Given the description of an element on the screen output the (x, y) to click on. 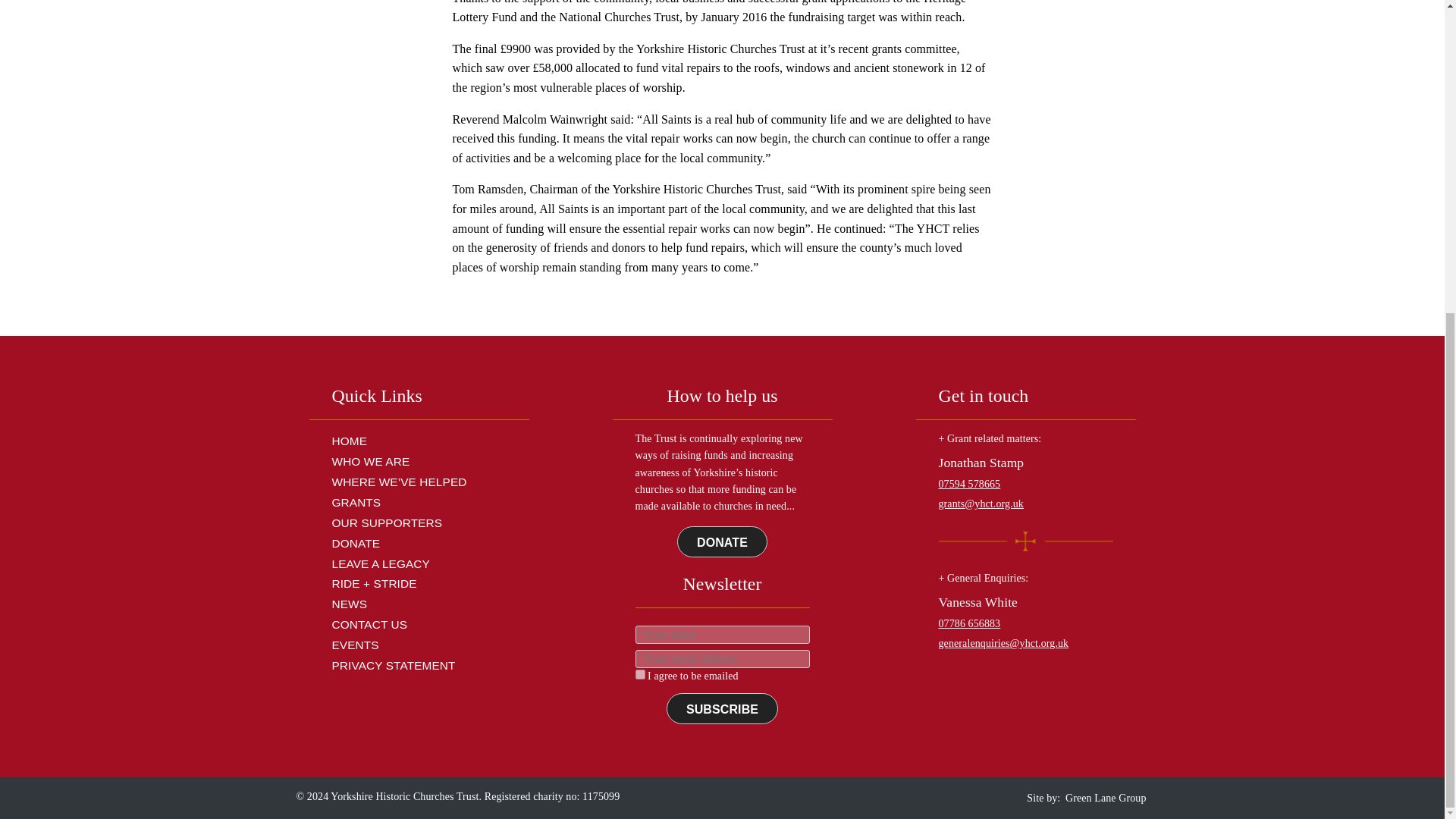
on (639, 674)
07594 578665 (970, 483)
CONTACT US (369, 624)
LEAVE A LEGACY (380, 563)
07786 656883 (970, 623)
GRANTS (356, 502)
WHO WE ARE (370, 461)
SUBSCRIBE (721, 707)
DONATE (355, 543)
OUR SUPPORTERS (386, 522)
PRIVACY STATEMENT (393, 665)
EVENTS (354, 644)
DONATE (722, 541)
NEWS (349, 603)
HOME (349, 440)
